Given the description of an element on the screen output the (x, y) to click on. 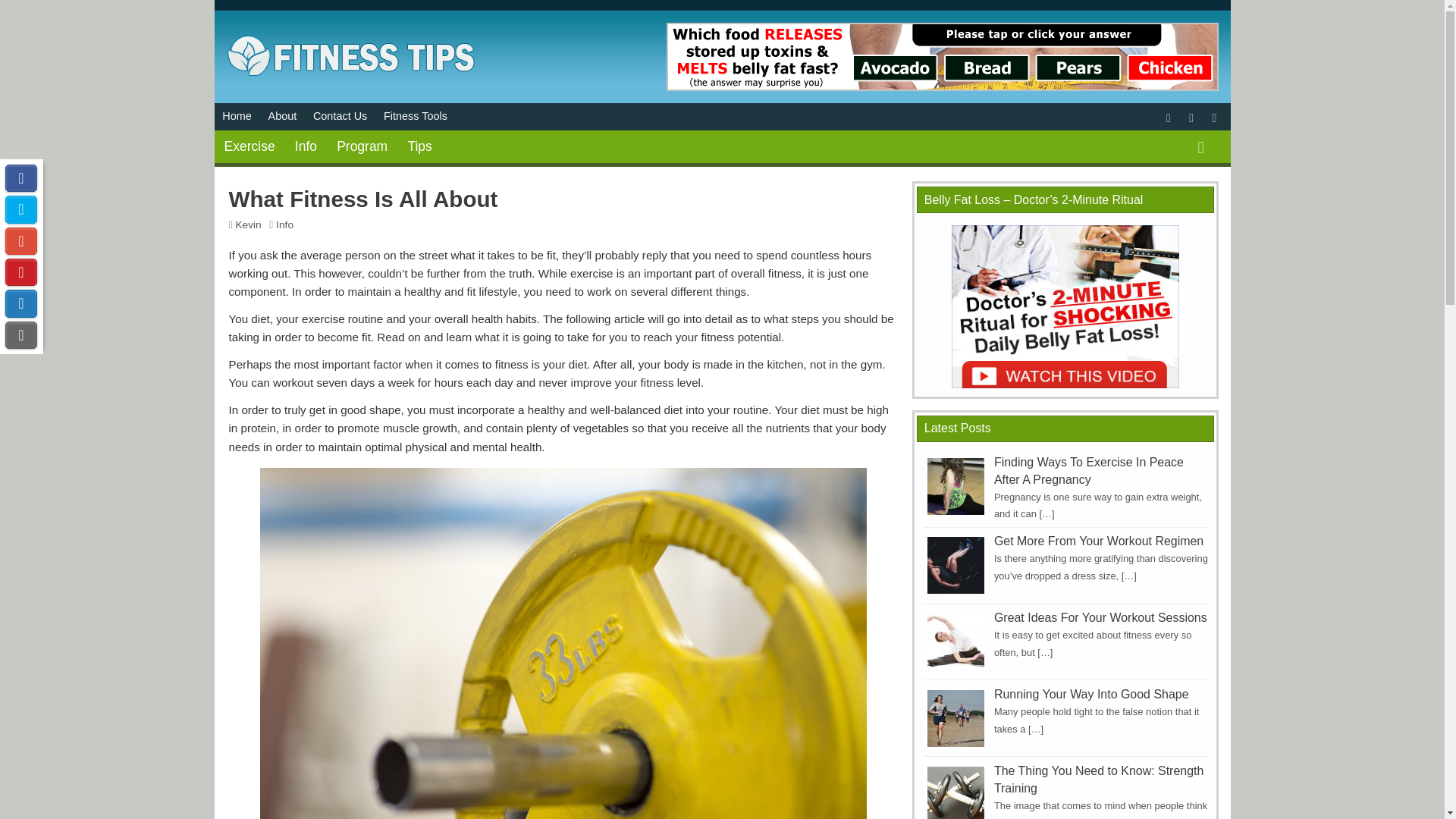
Share On Google Plus (21, 240)
Home (236, 116)
Kevin (247, 224)
Info (305, 146)
Share On Facebook (21, 177)
Fitness Tools (415, 116)
Exercise (248, 146)
Tweet on Twitter (21, 208)
Info (285, 224)
Program (361, 146)
